Given the description of an element on the screen output the (x, y) to click on. 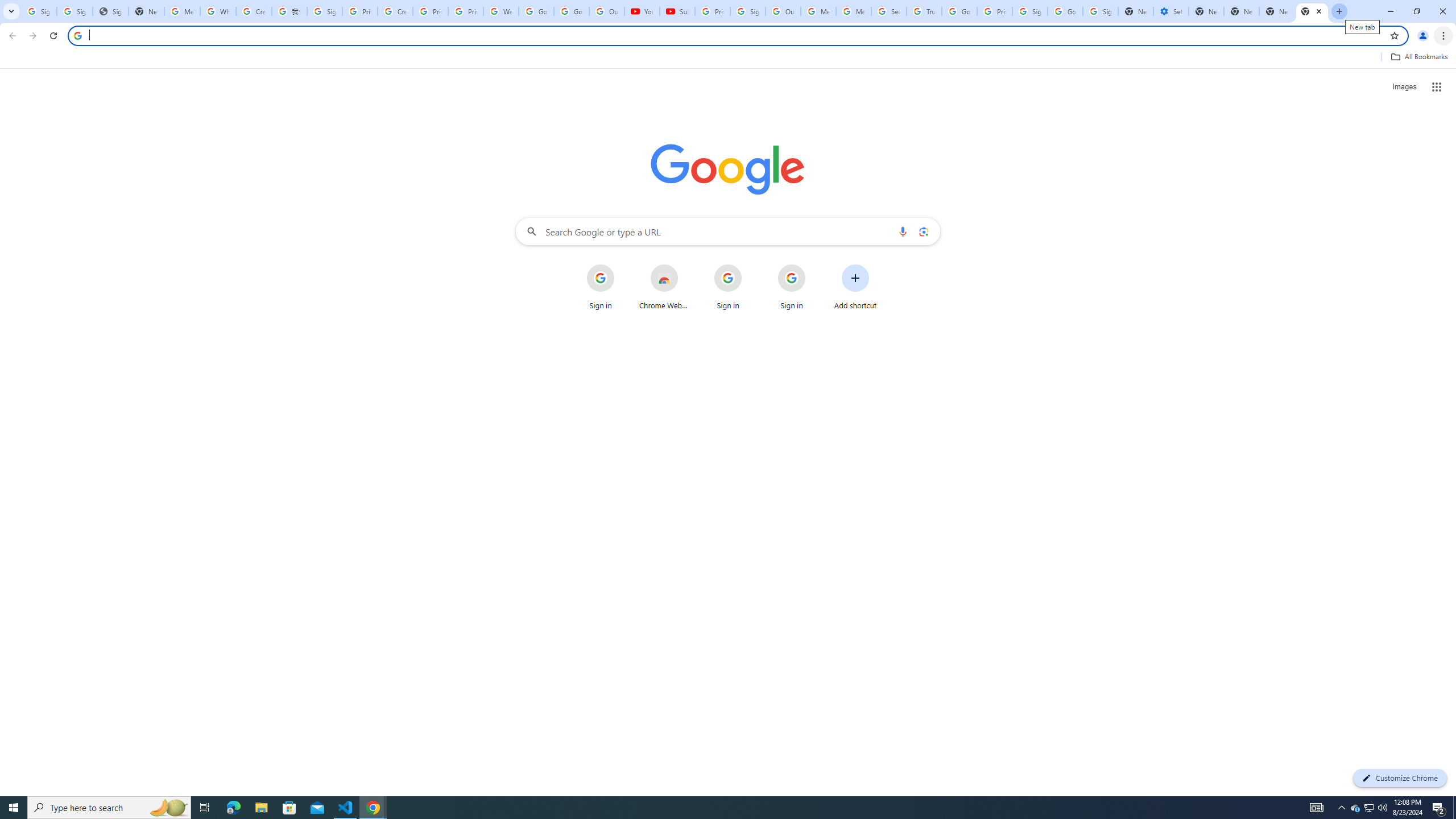
Google Cybersecurity Innovations - Google Safety Center (1064, 11)
Subscriptions - YouTube (677, 11)
Sign in - Google Accounts (1029, 11)
Google Ads - Sign in (959, 11)
